Given the description of an element on the screen output the (x, y) to click on. 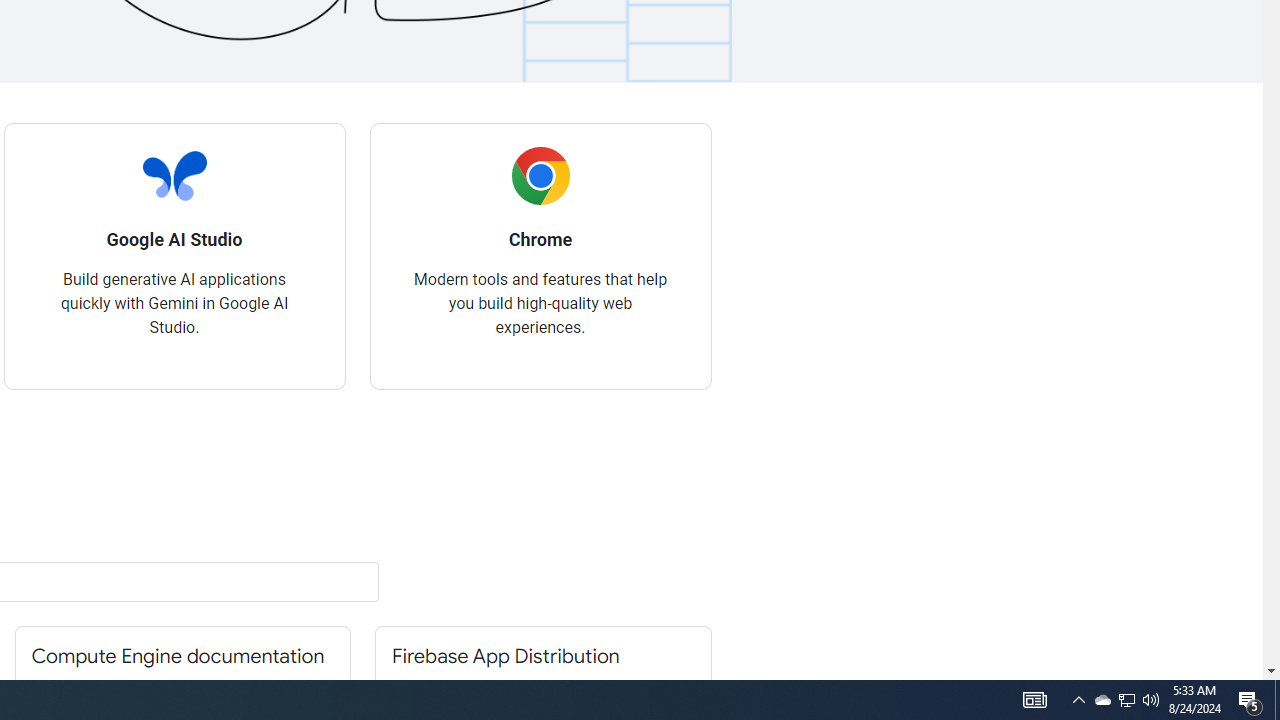
Google AI Studio logo (174, 176)
ChromeOS logo (540, 176)
